Given the description of an element on the screen output the (x, y) to click on. 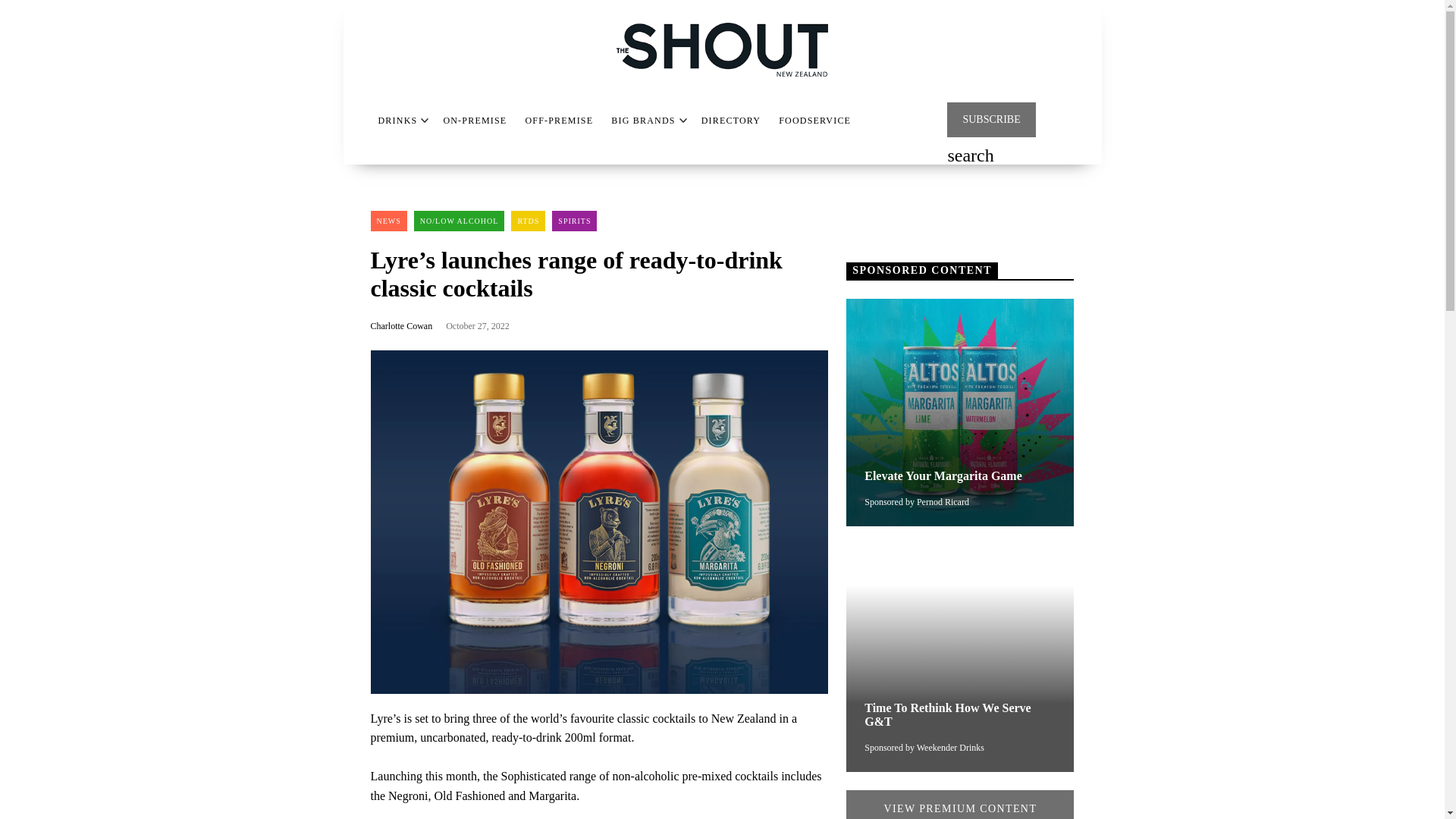
SUBSCRIBE (991, 119)
ON-PREMISE (474, 120)
BIG BRANDS (643, 120)
FOODSERVICE (814, 120)
search (969, 156)
DRINKS (396, 120)
DIRECTORY (731, 120)
OFF-PREMISE (558, 120)
